Given the description of an element on the screen output the (x, y) to click on. 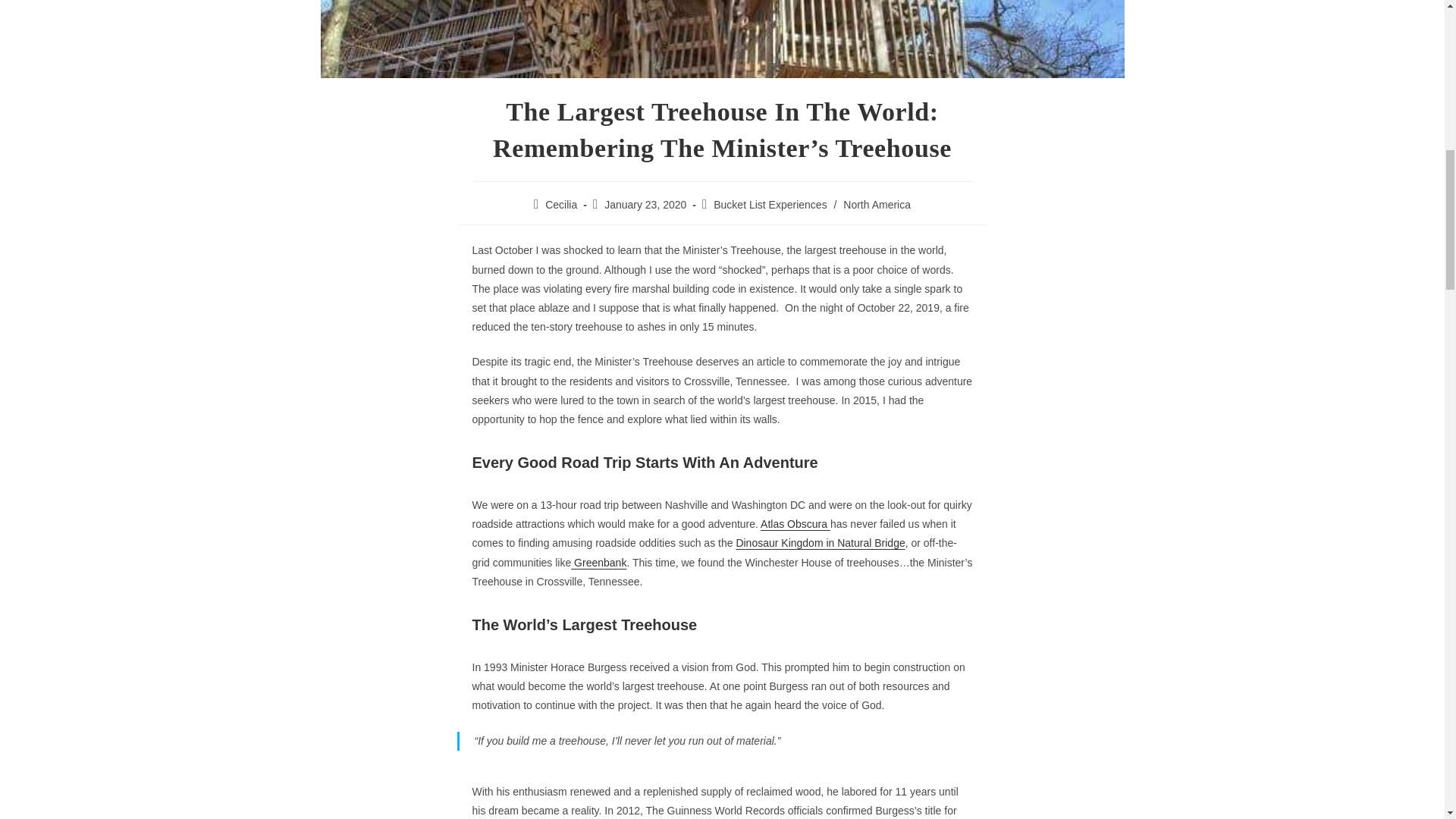
Posts by Cecilia (560, 204)
